Given the description of an element on the screen output the (x, y) to click on. 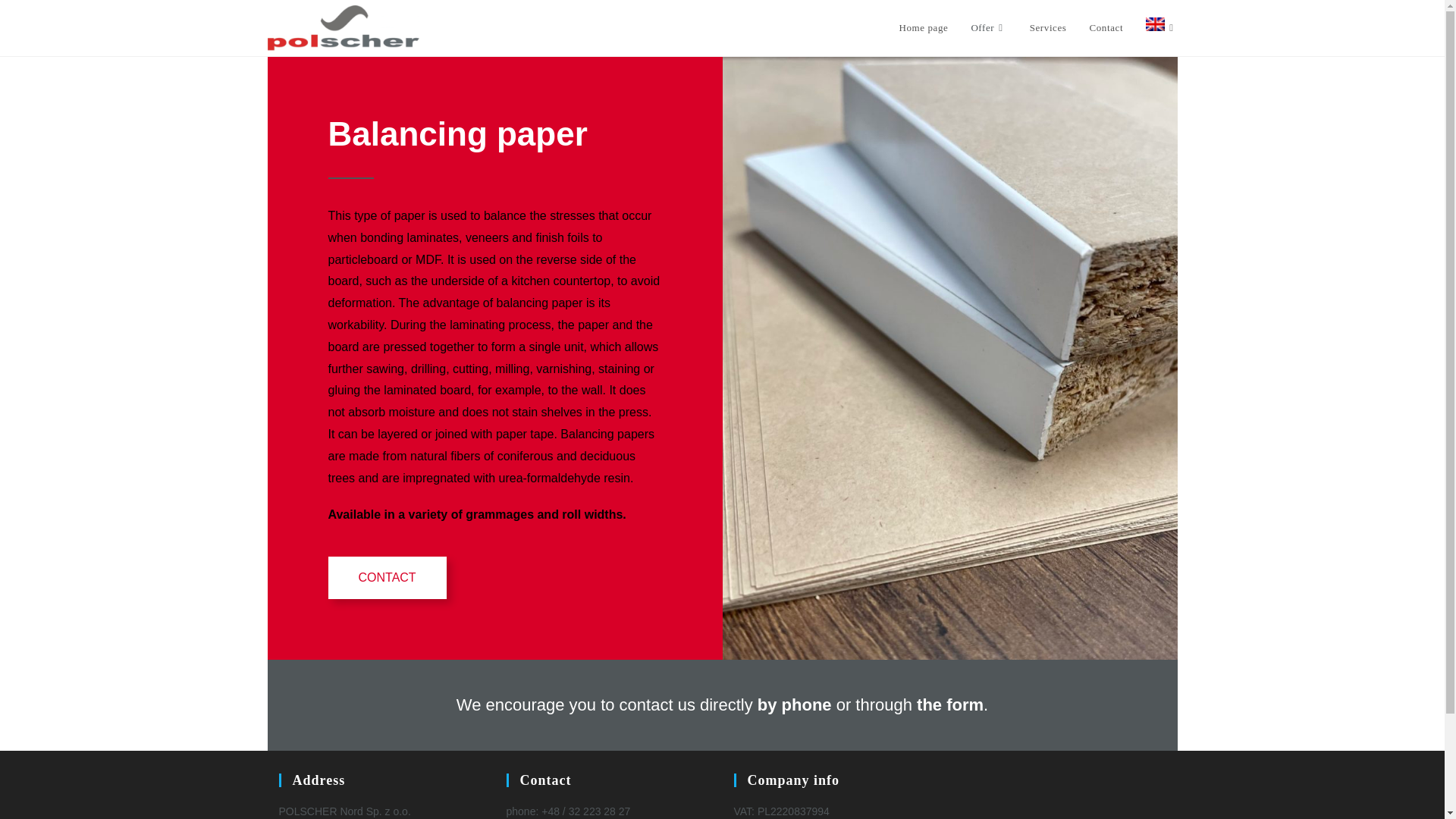
Contact (1106, 28)
Home page (922, 28)
Services (1047, 28)
Offer (988, 28)
